Given the description of an element on the screen output the (x, y) to click on. 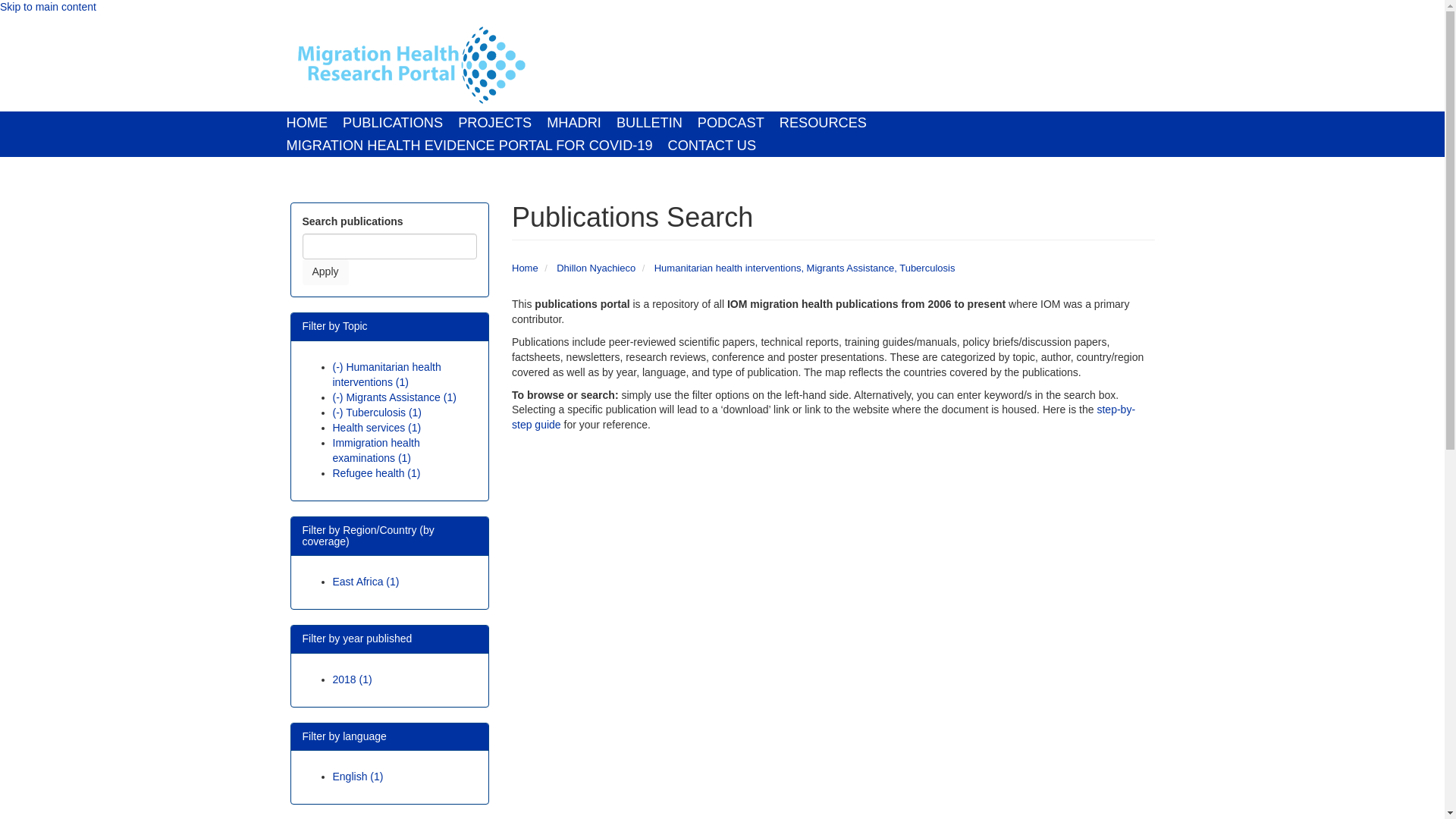
BULLETIN (649, 122)
PROJECTS (493, 122)
step-by-step guide (823, 416)
PUBLICATIONS (391, 122)
Apply (324, 272)
Home (525, 267)
Dhillon Nyachieco (595, 267)
MHADRI (573, 122)
PODCAST (730, 122)
Skip to main content (48, 6)
Home (410, 65)
MIGRATION HEALTH EVIDENCE PORTAL FOR COVID-19 (470, 145)
CONTACT US (712, 145)
HOME (307, 122)
